Given the description of an element on the screen output the (x, y) to click on. 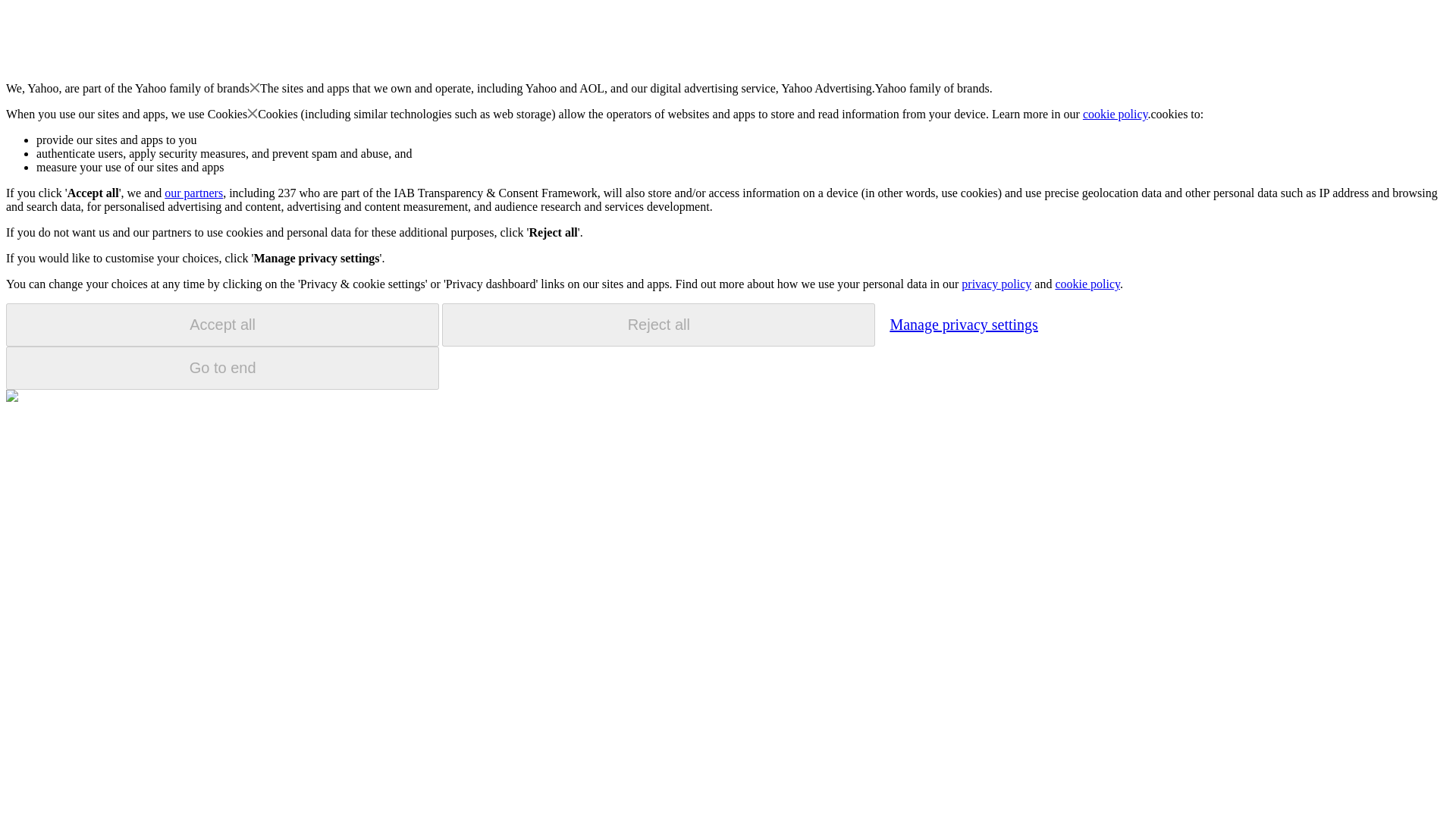
Reject all (658, 324)
cookie policy (1115, 113)
privacy policy (995, 283)
our partners (193, 192)
cookie policy (1086, 283)
Manage privacy settings (963, 323)
Accept all (222, 324)
Go to end (222, 367)
